Given the description of an element on the screen output the (x, y) to click on. 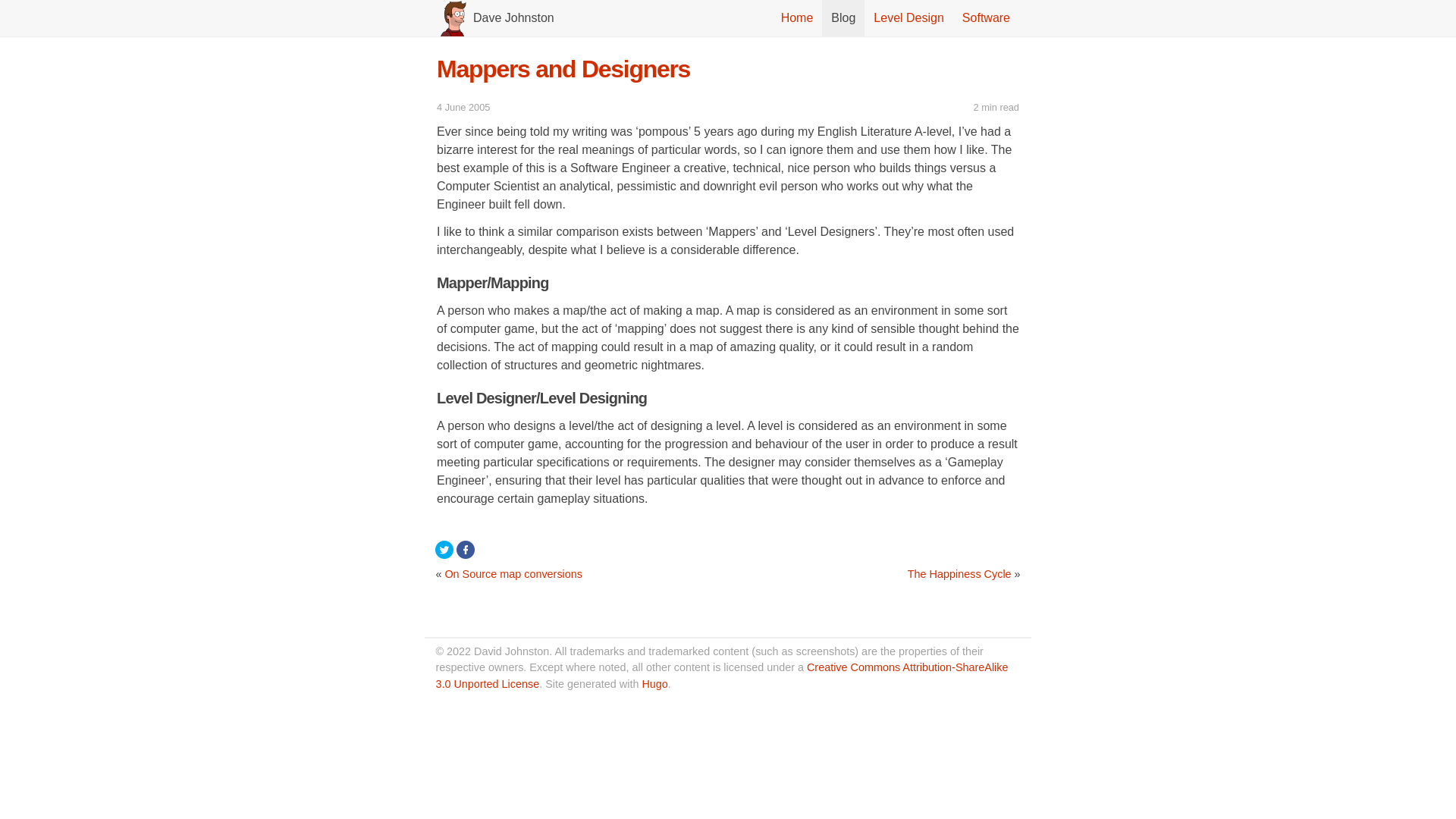
Home (796, 18)
Level Design (908, 18)
Hugo (654, 684)
On Source map conversions (513, 573)
Blog (843, 18)
The Happiness Cycle (959, 573)
Mappers and Designers (563, 68)
Dave Johnston (513, 17)
Creative Commons Attribution-ShareAlike 3.0 Unported License (721, 675)
Software (986, 18)
